Given the description of an element on the screen output the (x, y) to click on. 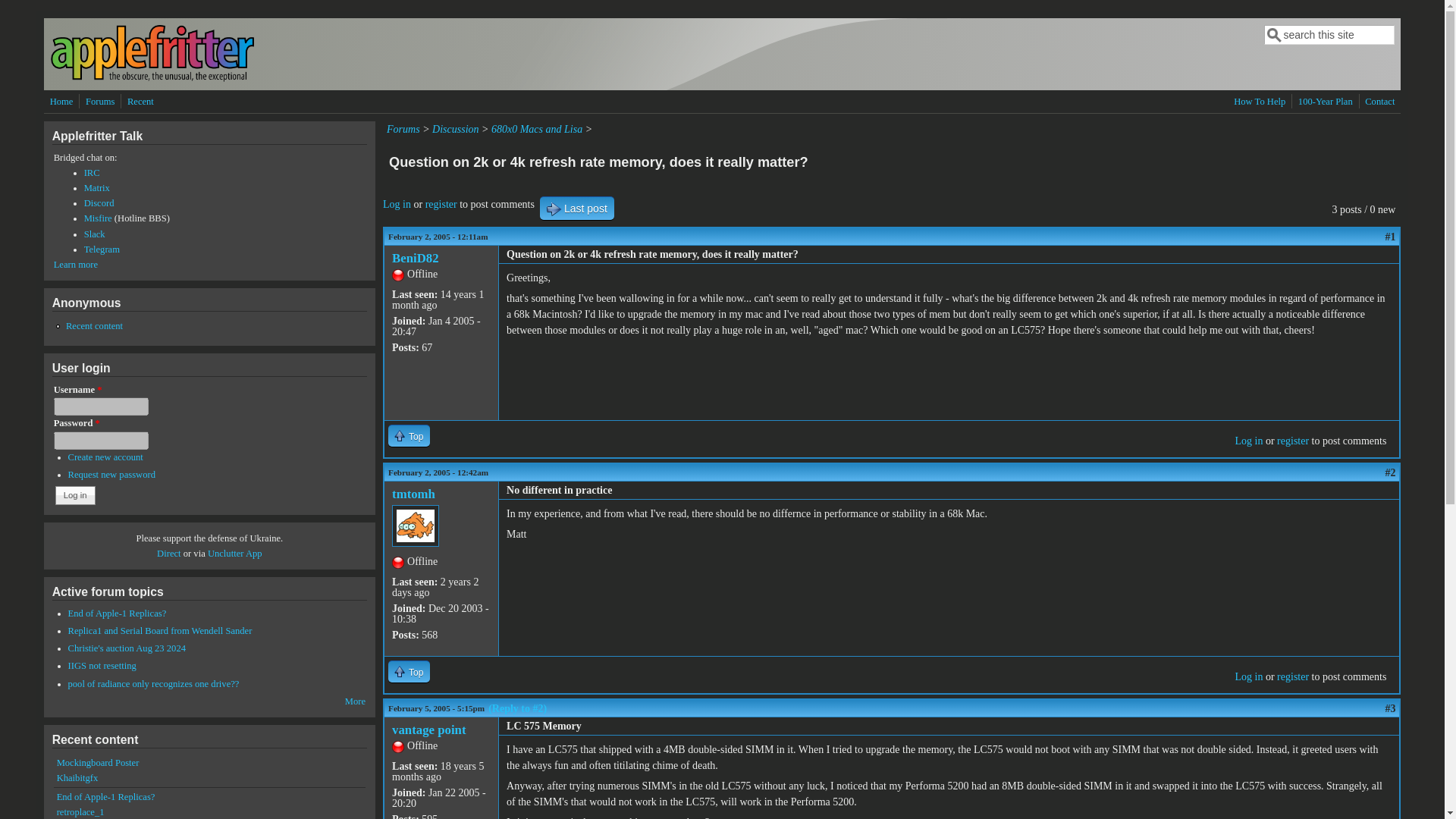
60 comments (102, 665)
Recent (140, 101)
Jump to top of page (408, 435)
Log in (396, 204)
Jump to top of page (408, 671)
tmtomh's picture (415, 526)
View user profile. (413, 493)
Forums (403, 129)
BeniD82 (415, 257)
How To Help (1259, 101)
